Given the description of an element on the screen output the (x, y) to click on. 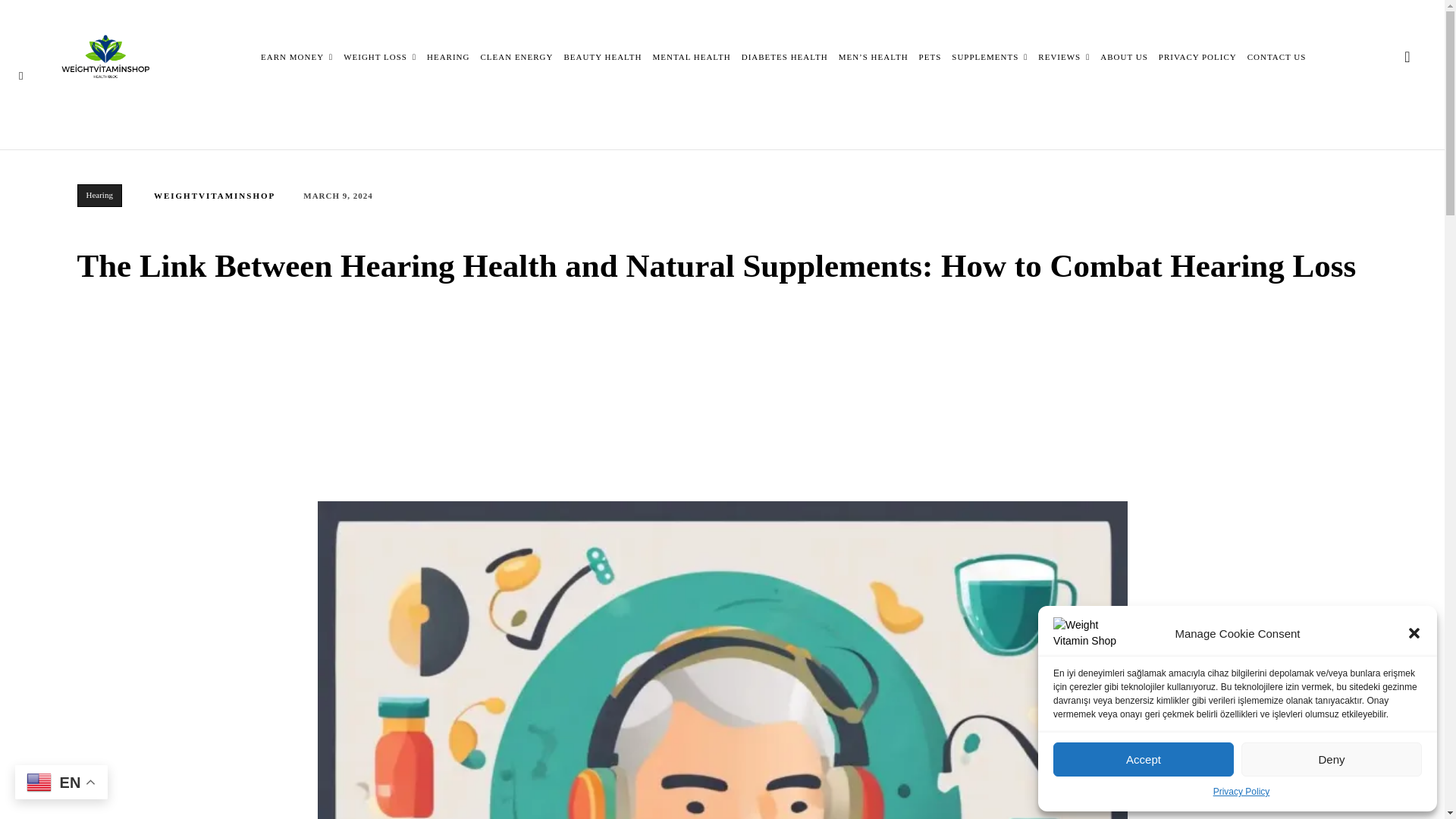
EARN MONEY (296, 56)
SUPPLEMENTS (989, 56)
DIABETES HEALTH (784, 56)
Hearing (99, 195)
Privacy Policy (1240, 791)
WEIGHTVITAMINSHOP (214, 195)
WEIGHT LOSS (379, 56)
ABOUT US (1124, 56)
HEARING (448, 56)
MENTAL HEALTH (691, 56)
CONTACT US (1276, 56)
BEAUTY HEALTH (603, 56)
PRIVACY POLICY (1197, 56)
CLEAN ENERGY (516, 56)
